Given the description of an element on the screen output the (x, y) to click on. 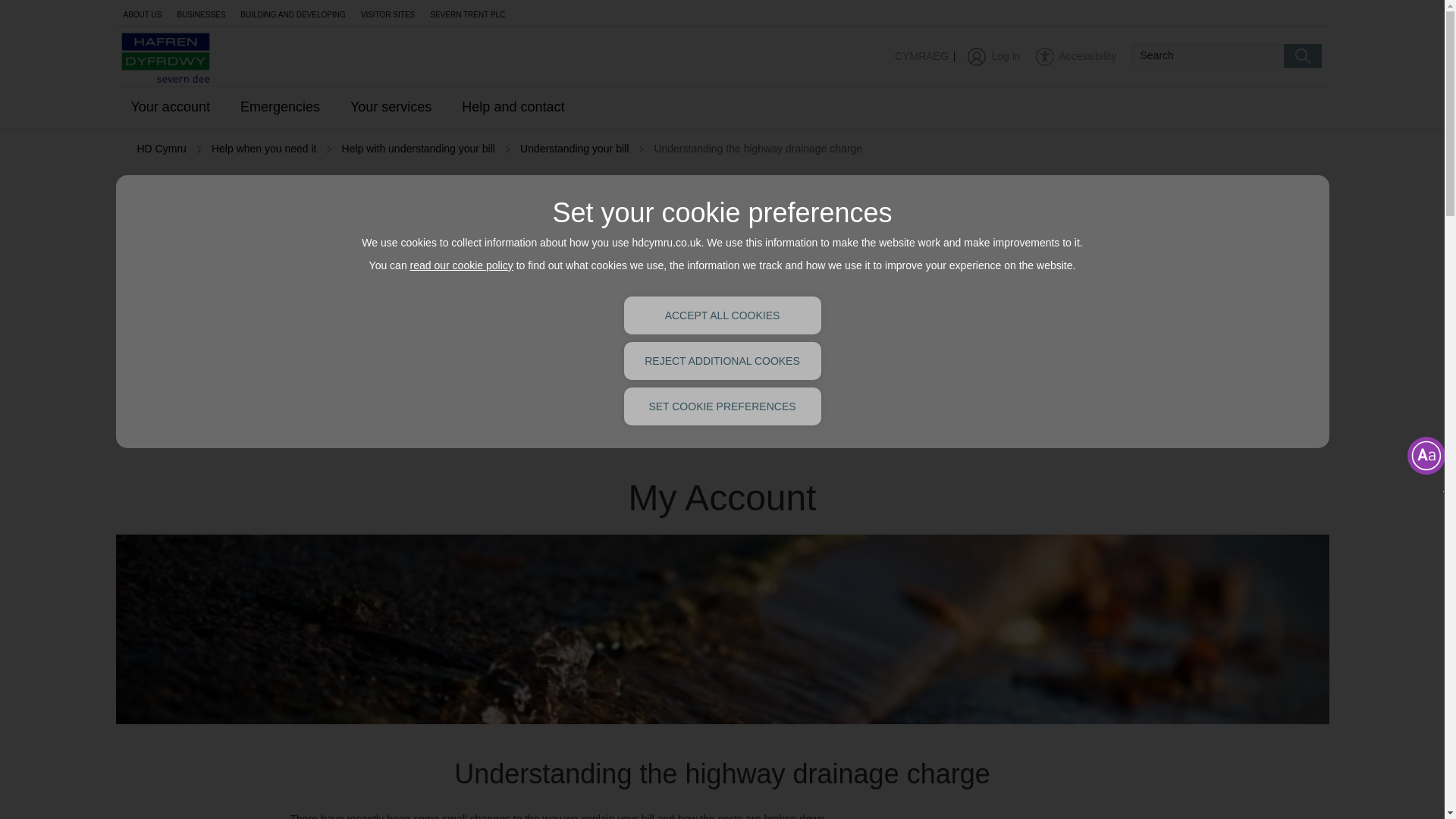
Emergencies (279, 107)
BUSINESSES (200, 13)
BUILDING AND DEVELOPING (292, 13)
ABOUT US (141, 13)
Your account (169, 107)
Read our cookie policy (461, 265)
VISITOR SITES (388, 13)
